Given the description of an element on the screen output the (x, y) to click on. 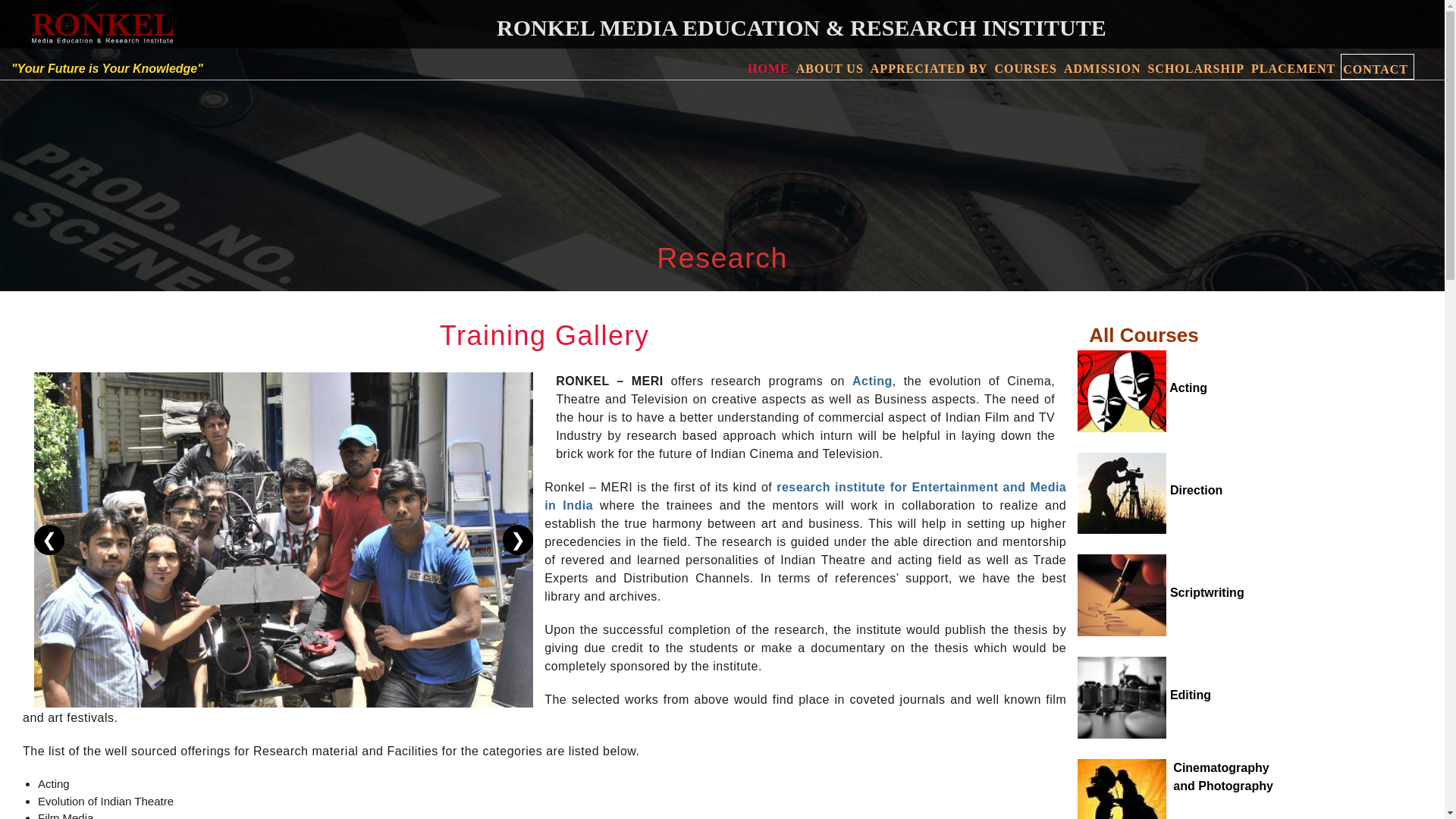
Film Editing Courses (1144, 694)
Scriptwriting (1254, 777)
research institute for Entertainment and Media in India (1160, 592)
top acting coaches (804, 495)
Cinematography Courses (1142, 387)
Editing (1254, 777)
Acting (1144, 694)
Music production courses in india (1142, 387)
Direction (871, 380)
